Given the description of an element on the screen output the (x, y) to click on. 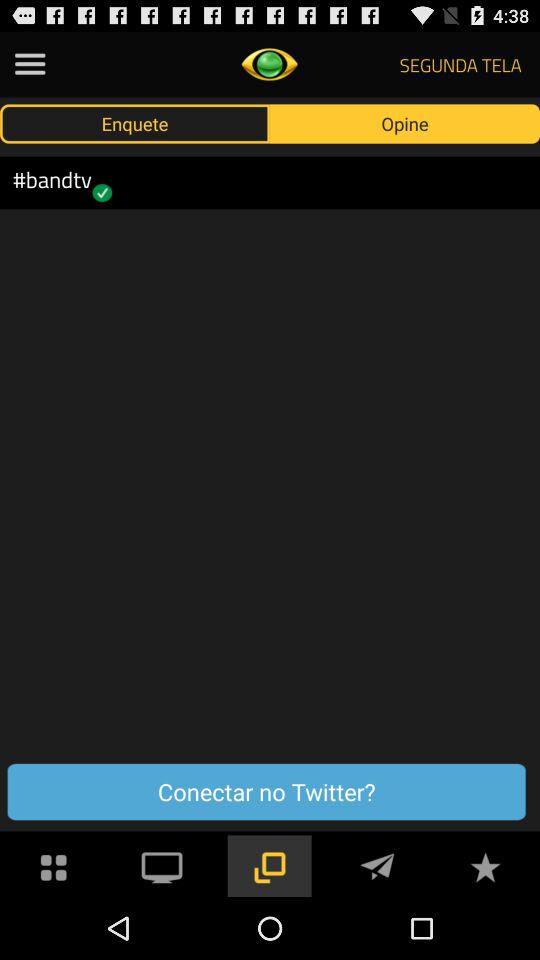
tap the icon below conectar no twitter? icon (54, 864)
